Given the description of an element on the screen output the (x, y) to click on. 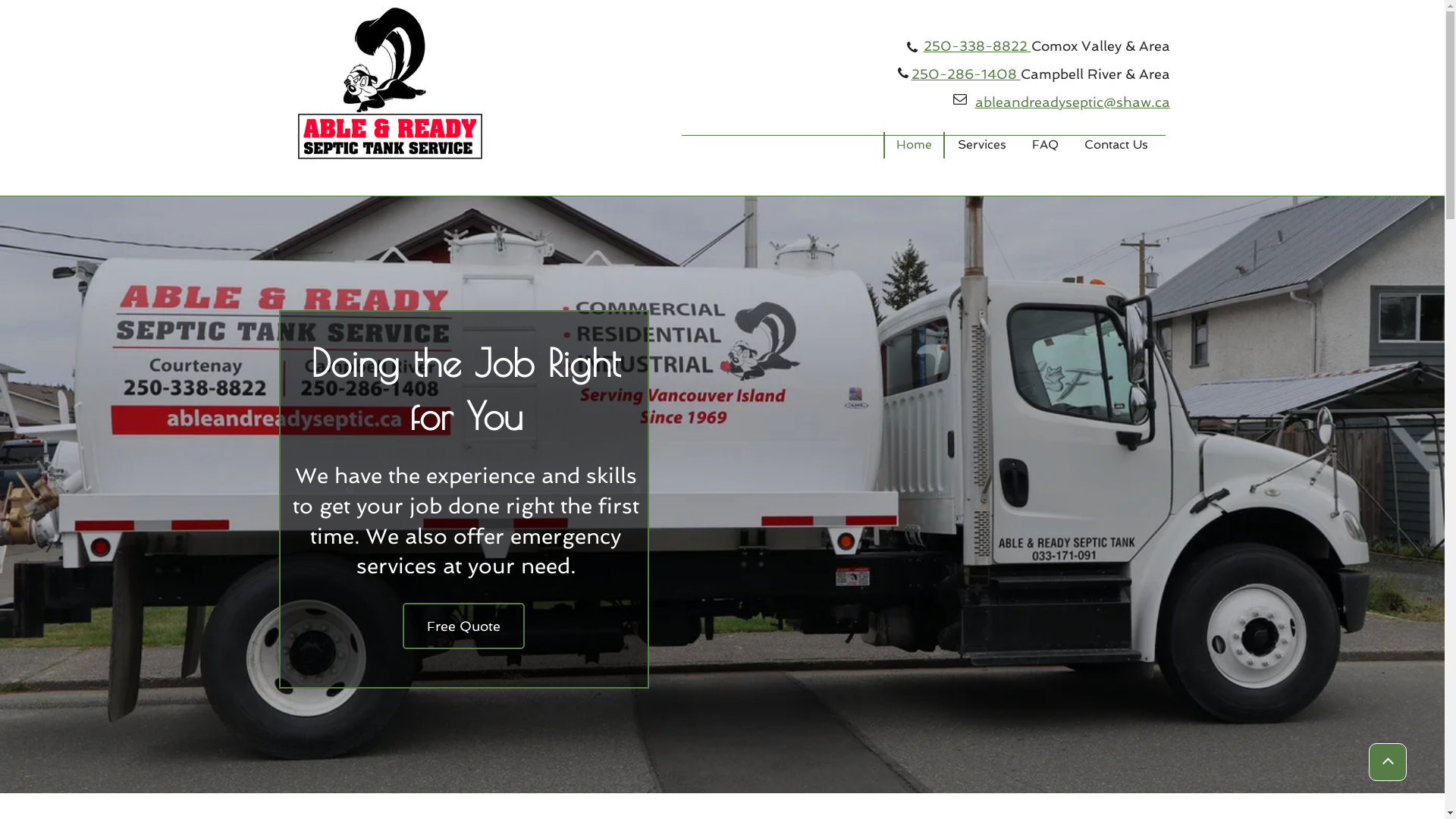
250-338-8822 Element type: text (977, 45)
ableandreadyseptic@shaw.ca Element type: text (1069, 101)
FAQ Element type: text (1045, 144)
Free Quote Element type: text (462, 625)
250-286-1408 Element type: text (965, 73)
Contact Us Element type: text (1115, 144)
Home Element type: text (913, 144)
